Given the description of an element on the screen output the (x, y) to click on. 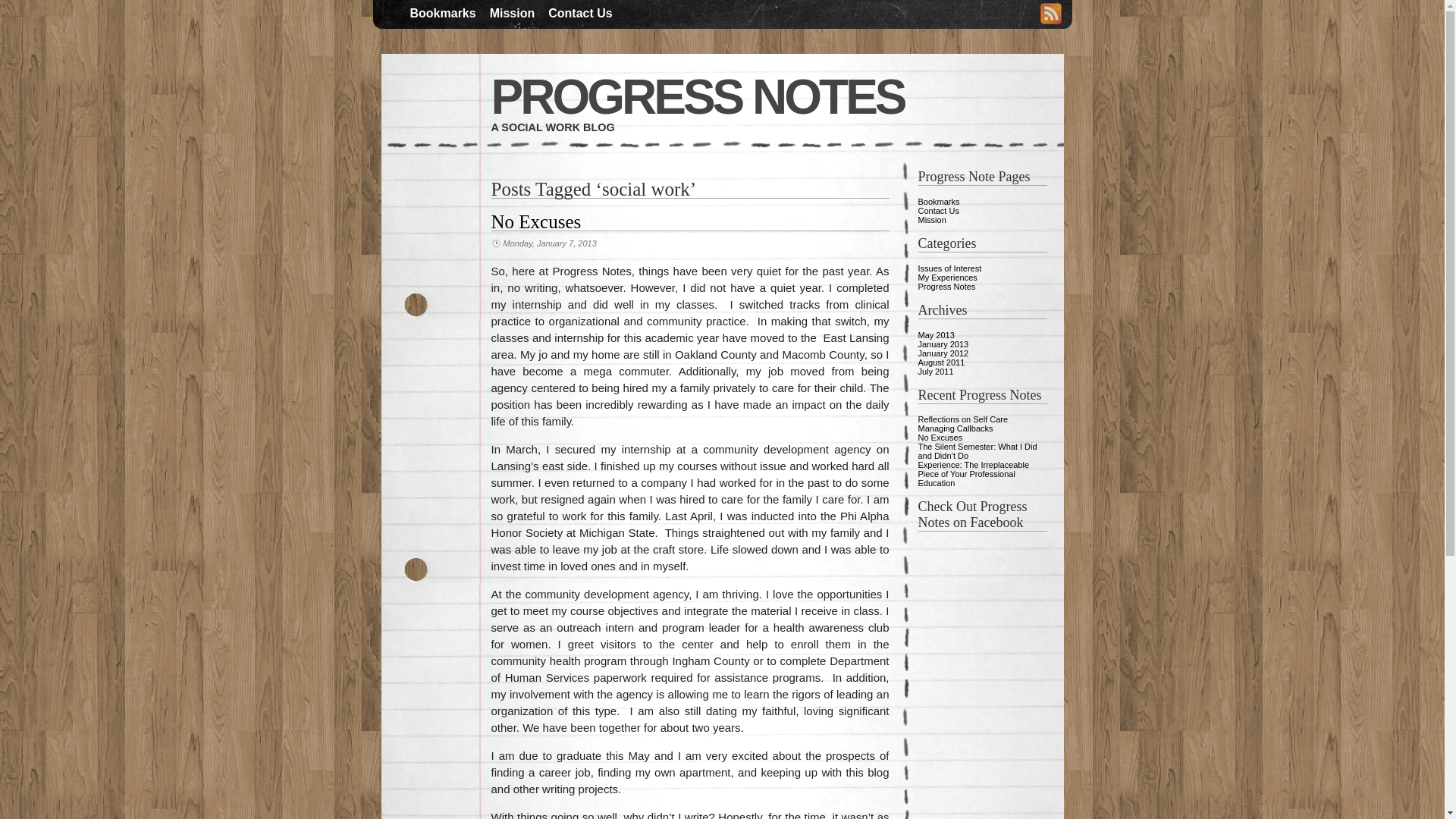
Progress Notes (946, 286)
Reflections on Self Care (962, 419)
Managing Callbacks (954, 428)
Managing Callbacks (954, 428)
PROGRESS NOTES (698, 96)
July 2011 (935, 370)
May 2013 (935, 334)
July 2011 (935, 370)
January 2013 (942, 343)
Bookmarks (938, 201)
January 2012 (942, 352)
August 2011 (940, 361)
No Excuses (939, 437)
Contact Us (937, 210)
